Given the description of an element on the screen output the (x, y) to click on. 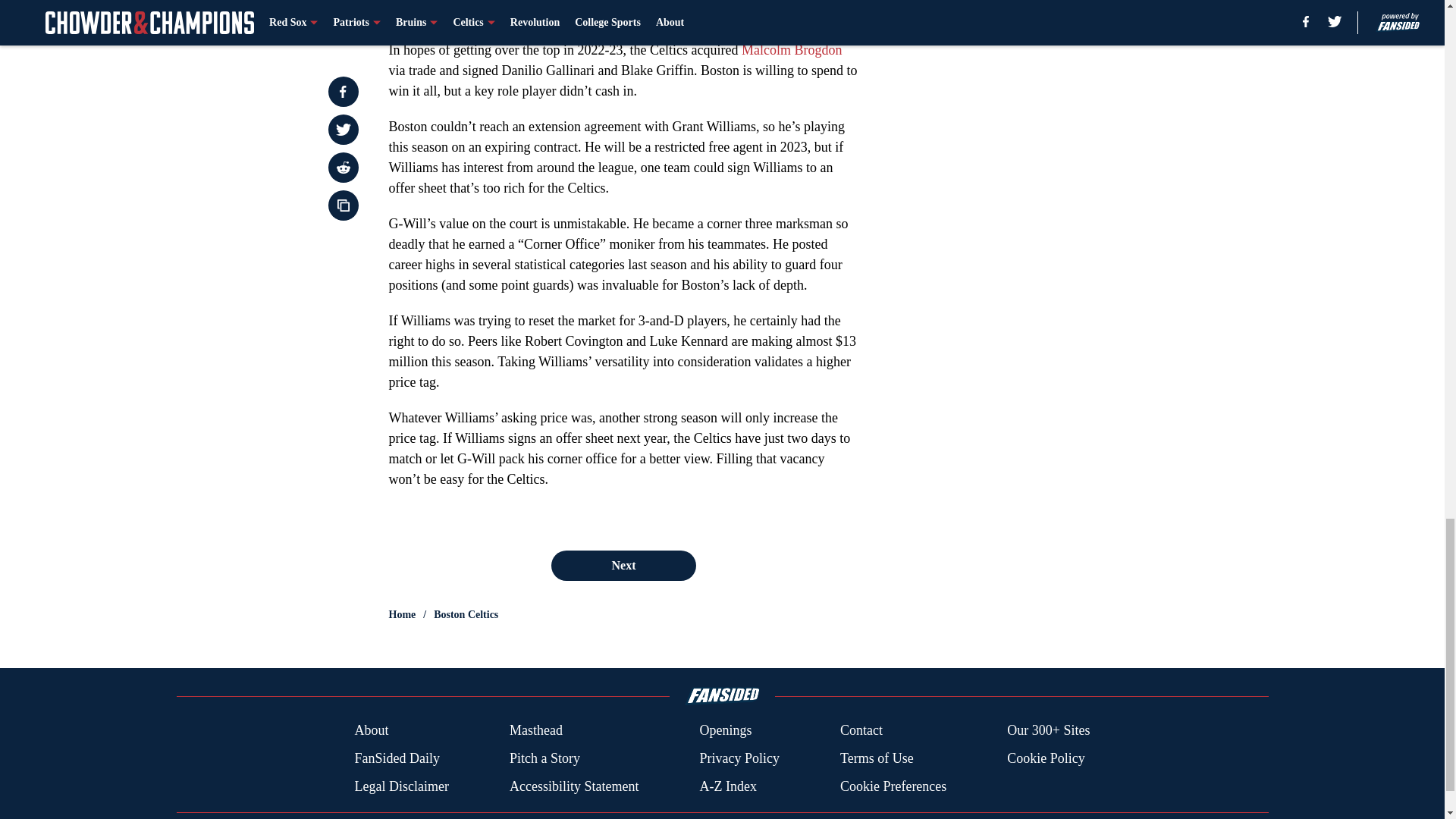
Malcolm Brogdon (792, 49)
Openings (724, 730)
Home (401, 614)
Masthead (535, 730)
Boston Celtics (465, 614)
Contact (861, 730)
About (370, 730)
Next (622, 565)
